Given the description of an element on the screen output the (x, y) to click on. 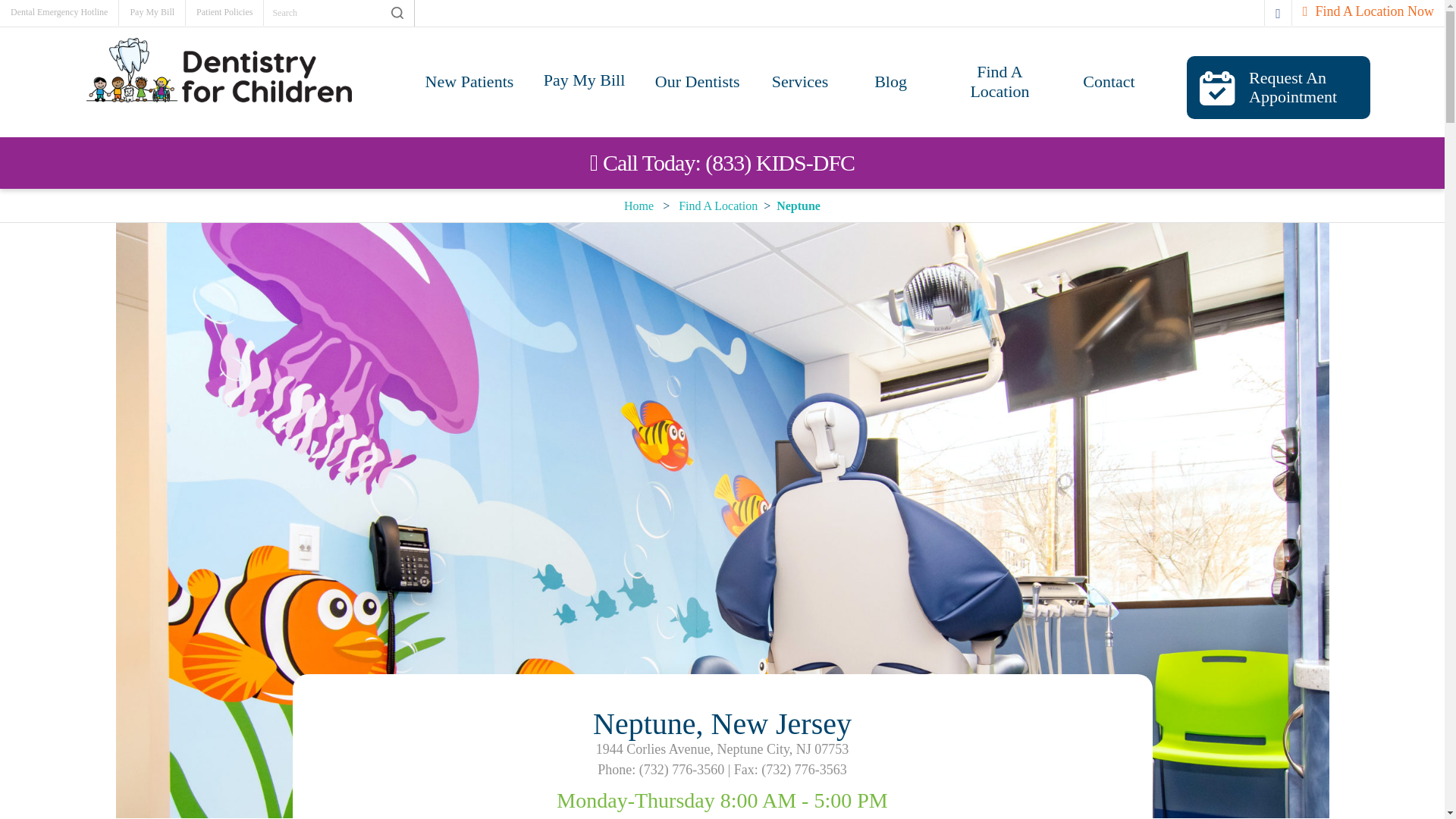
Search (394, 13)
Services (799, 86)
Find A Location (717, 205)
Home (638, 205)
Contact (1107, 86)
Pay My Bill (152, 12)
Our Dentists (697, 86)
Request An Appointment (1278, 87)
Find A Location (999, 87)
Patient Policies (224, 12)
Pay My Bill (584, 85)
Locations (717, 205)
Blog (890, 86)
New Patients (469, 86)
